Given the description of an element on the screen output the (x, y) to click on. 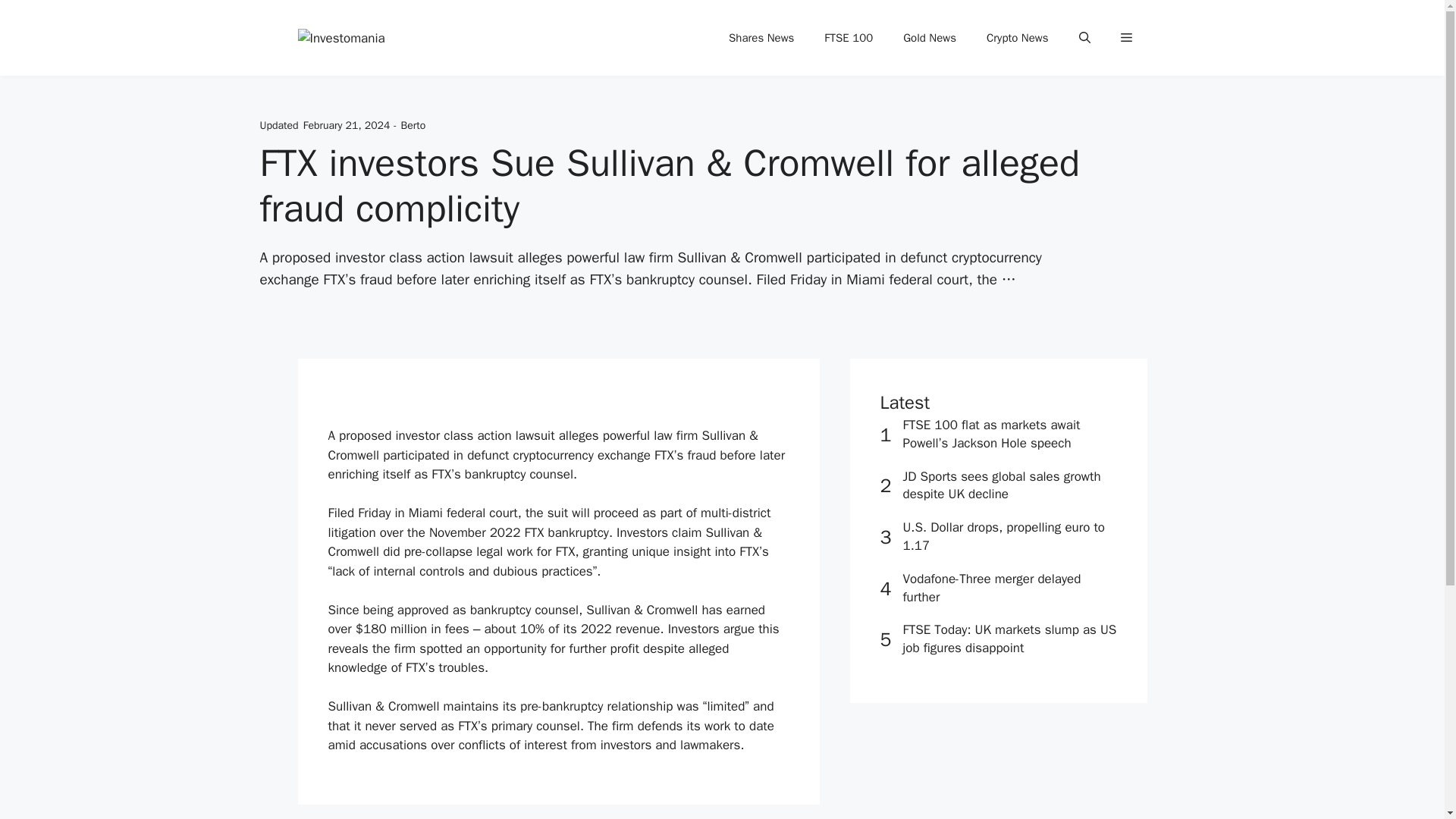
FTSE Today: UK markets slump as US job figures disappoint (1009, 638)
FTSE 100 (848, 37)
Crypto News (1017, 37)
JD Sports sees global sales growth despite UK decline (1001, 485)
Gold News (929, 37)
Shares News (761, 37)
Vodafone-Three merger delayed further (991, 587)
U.S. Dollar drops, propelling euro to 1.17 (1003, 536)
Berto (413, 124)
